Given the description of an element on the screen output the (x, y) to click on. 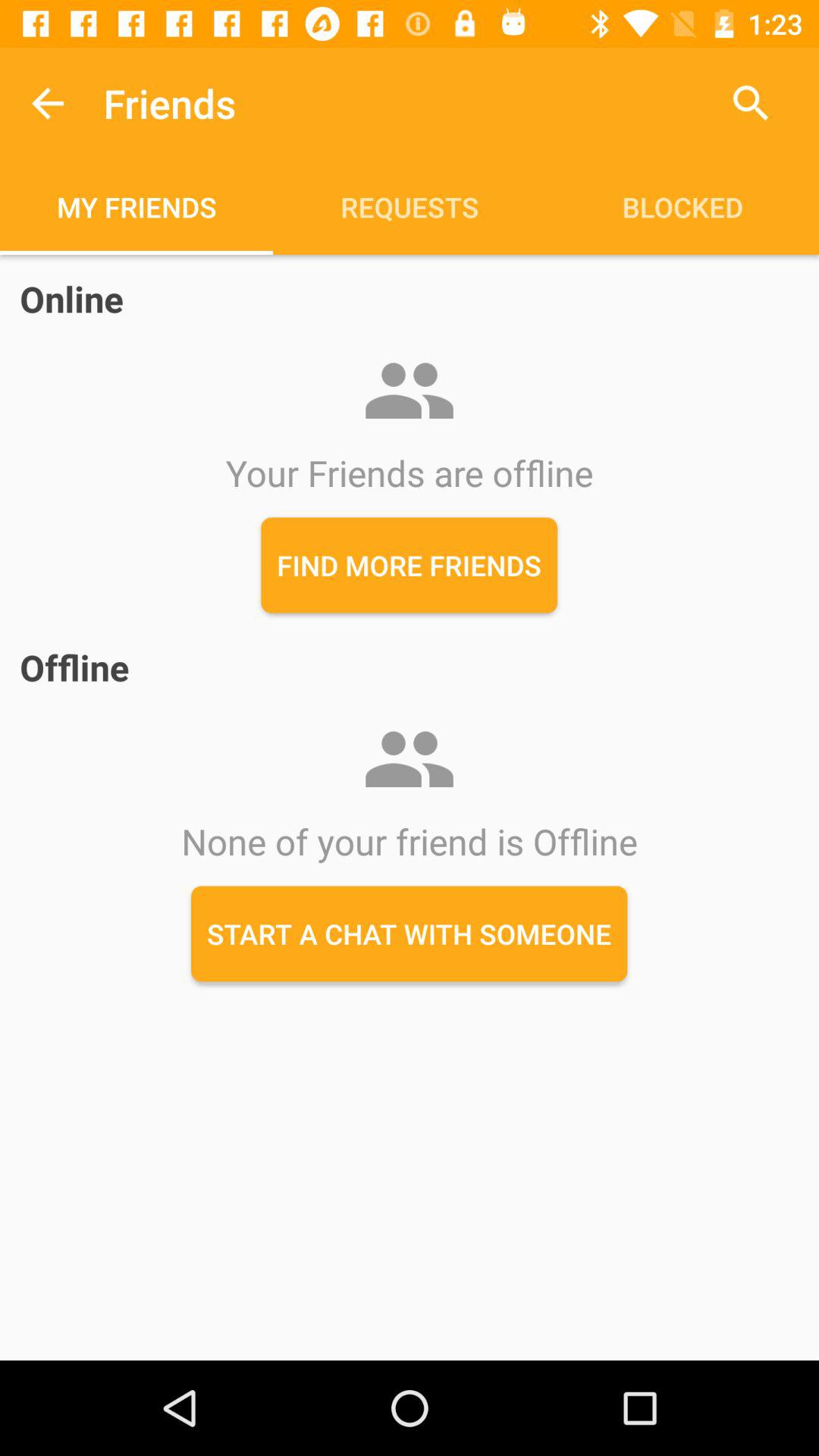
open icon to the right of the friends item (751, 103)
